Given the description of an element on the screen output the (x, y) to click on. 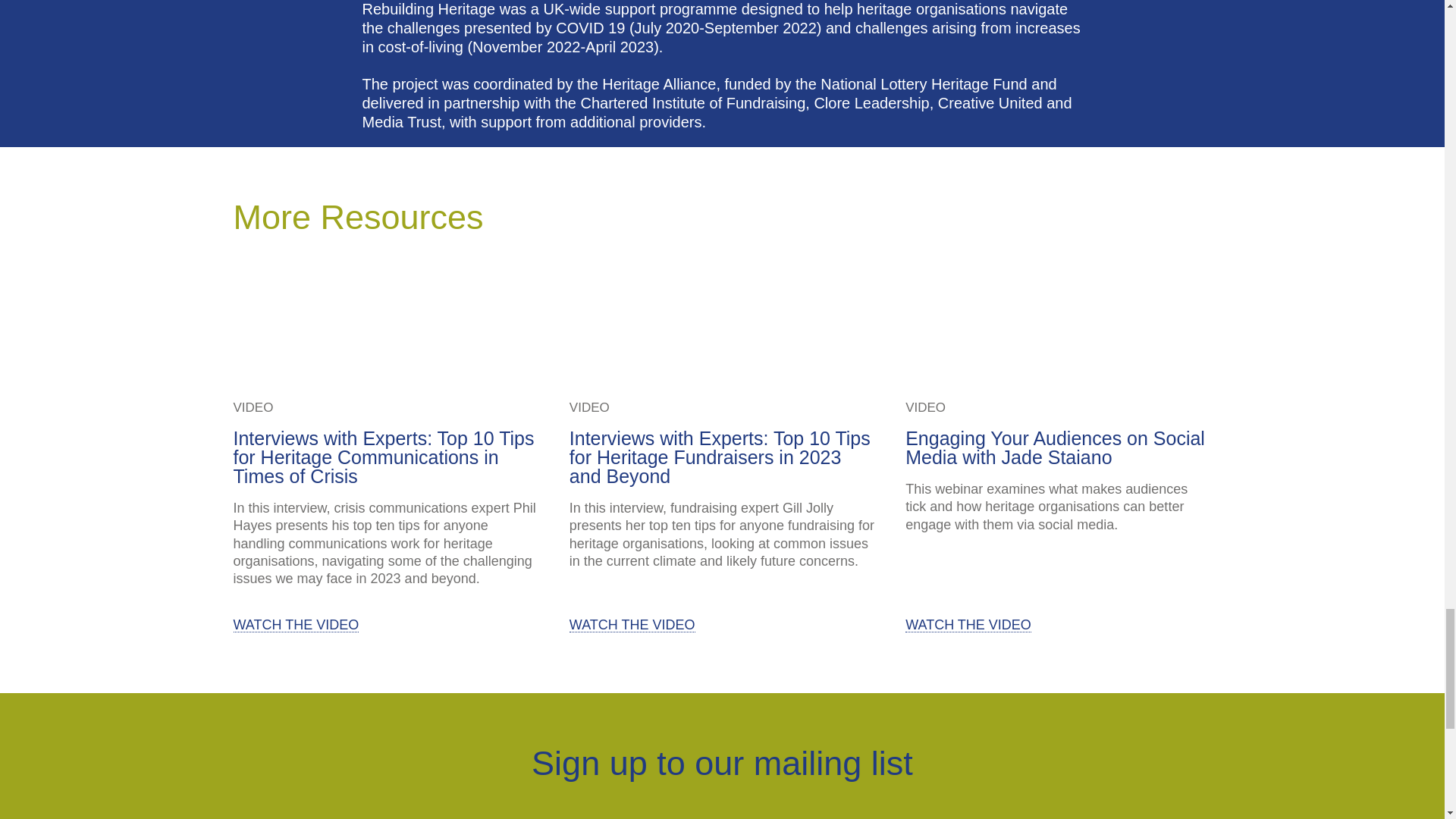
WATCH THE VIDEO (632, 625)
WATCH THE VIDEO (967, 625)
WATCH THE VIDEO (295, 625)
